Given the description of an element on the screen output the (x, y) to click on. 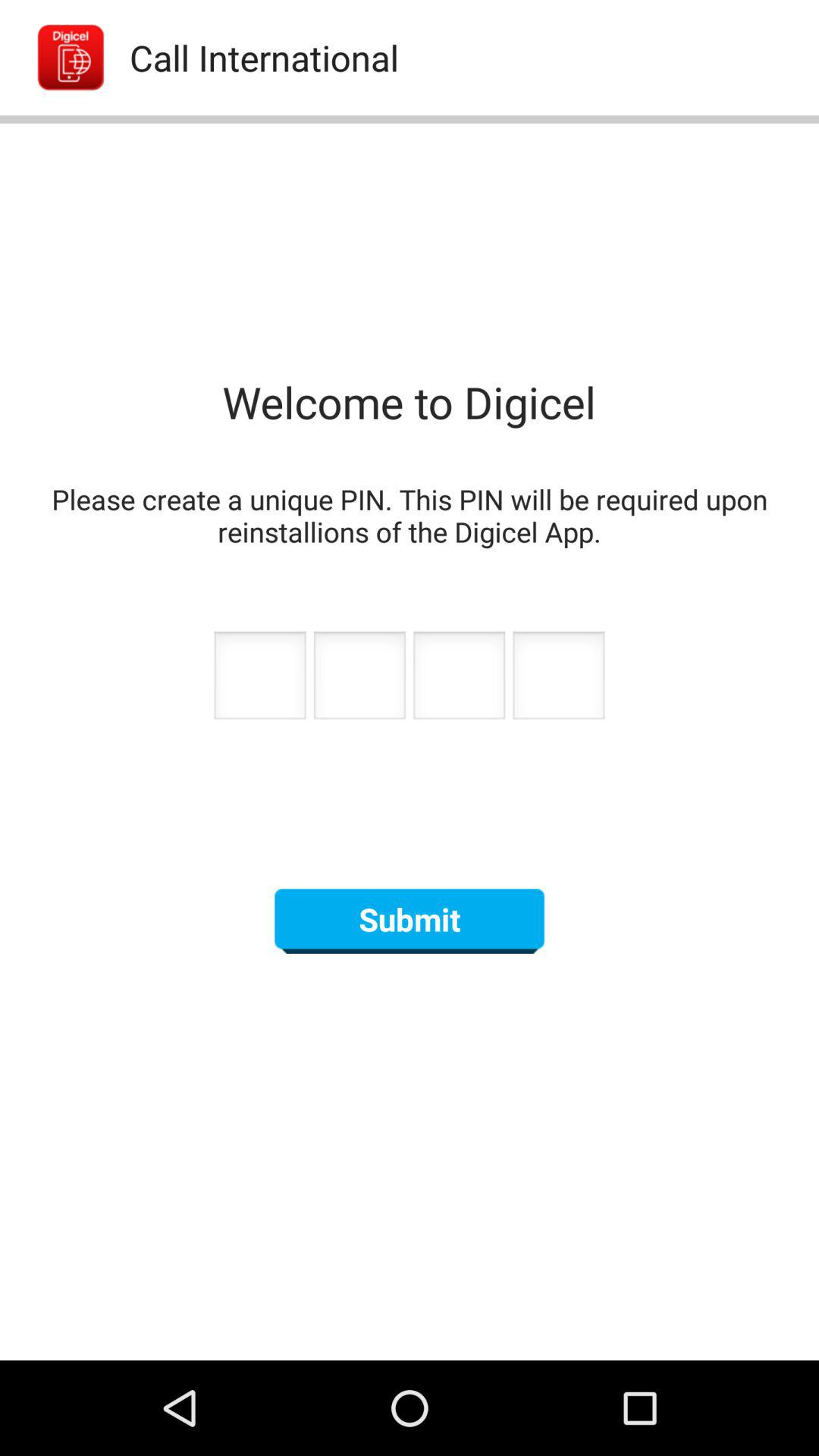
next (558, 679)
